Given the description of an element on the screen output the (x, y) to click on. 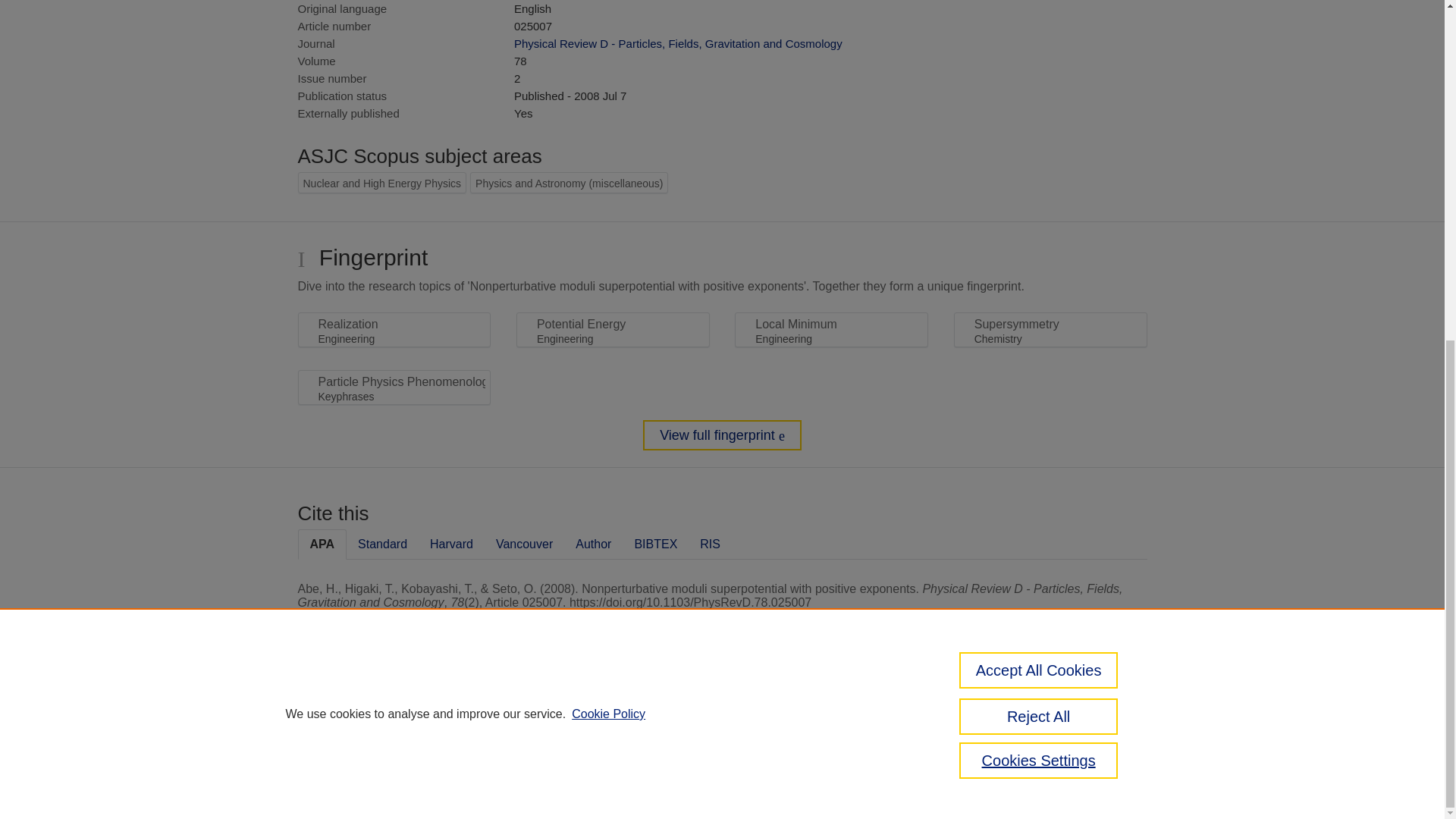
Cookies Settings (334, 781)
Cookie Policy (608, 135)
View full fingerprint (722, 435)
Cookies Settings (1038, 182)
Reject All (1038, 138)
About web accessibility (1088, 713)
use of cookies (796, 760)
Pure (362, 708)
Scopus (394, 708)
Elsevier B.V. (506, 728)
Report vulnerability (1088, 745)
